Given the description of an element on the screen output the (x, y) to click on. 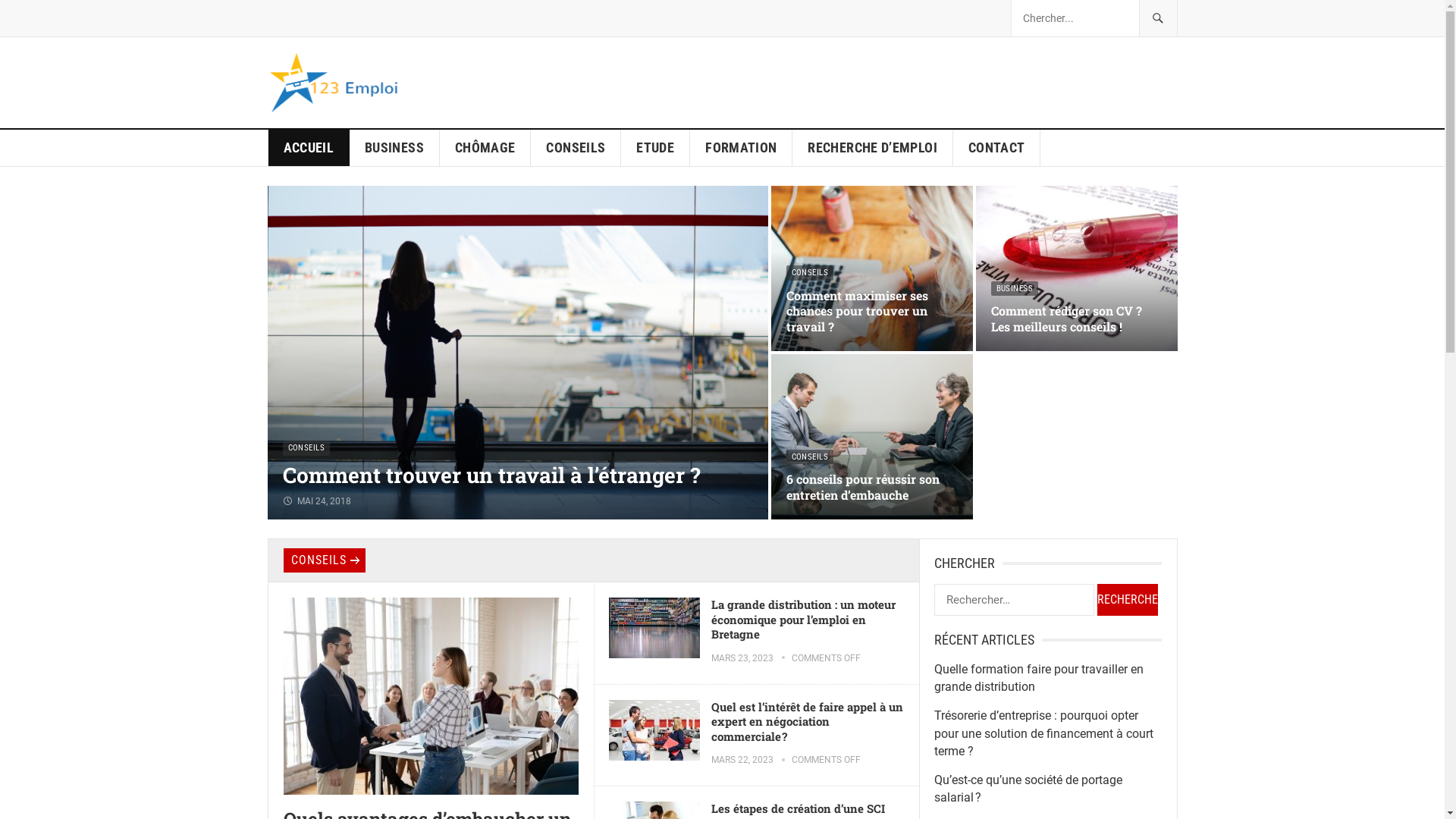
CONSEILS Element type: text (809, 272)
BUSINESS Element type: text (1014, 288)
CONSEILS Element type: text (809, 456)
ETUDE Element type: text (655, 147)
CONSEILS Element type: text (575, 147)
CONSEILS Element type: text (324, 560)
CONSEILS Element type: text (305, 447)
FORMATION Element type: text (741, 147)
Comment maximiser ses chances pour trouver un travail ? Element type: text (856, 311)
ACCUEIL Element type: text (309, 147)
Rechercher Element type: text (1126, 599)
CONTACT Element type: text (997, 147)
BUSINESS Element type: text (394, 147)
